Given the description of an element on the screen output the (x, y) to click on. 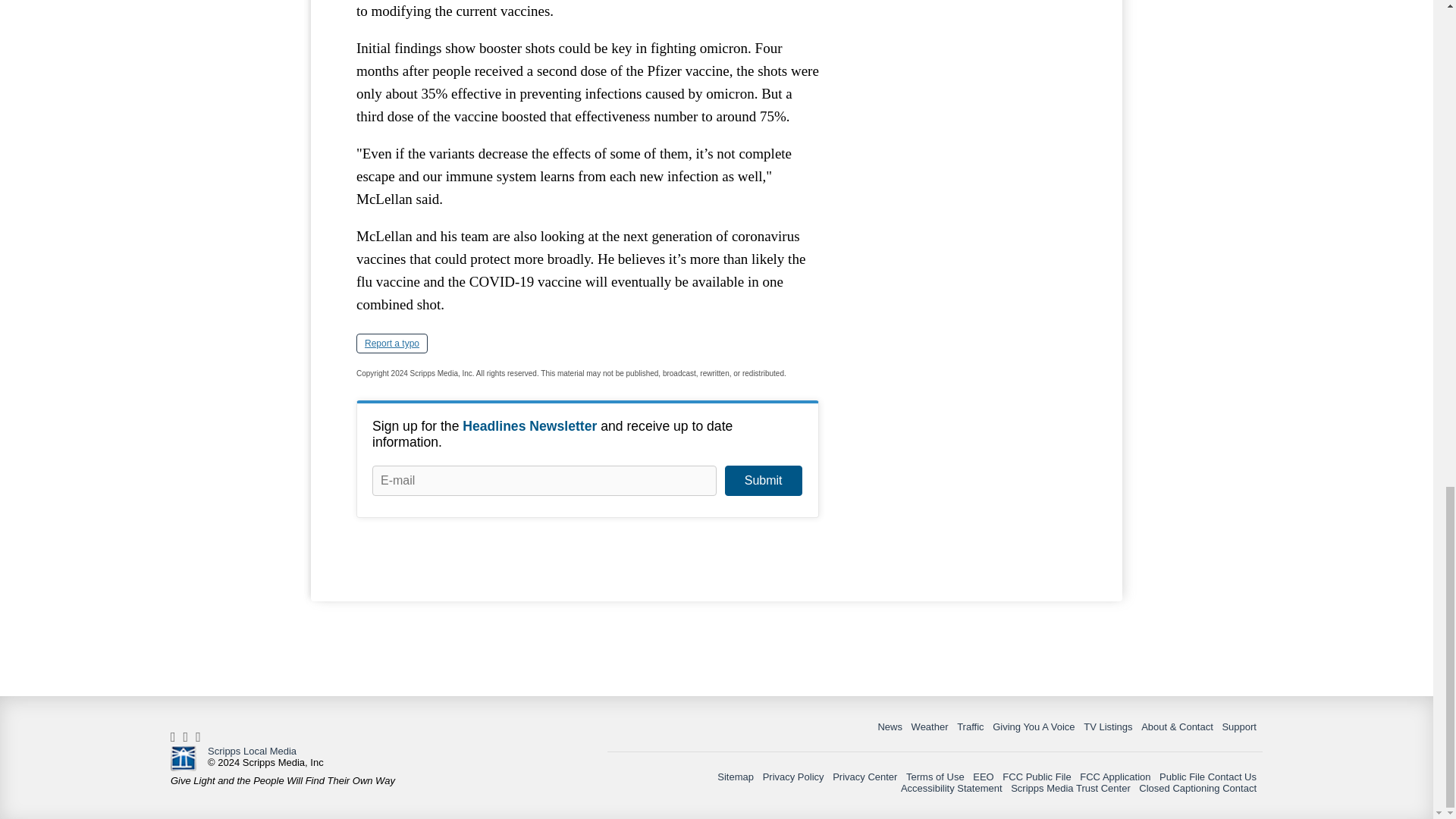
Submit (763, 481)
